Given the description of an element on the screen output the (x, y) to click on. 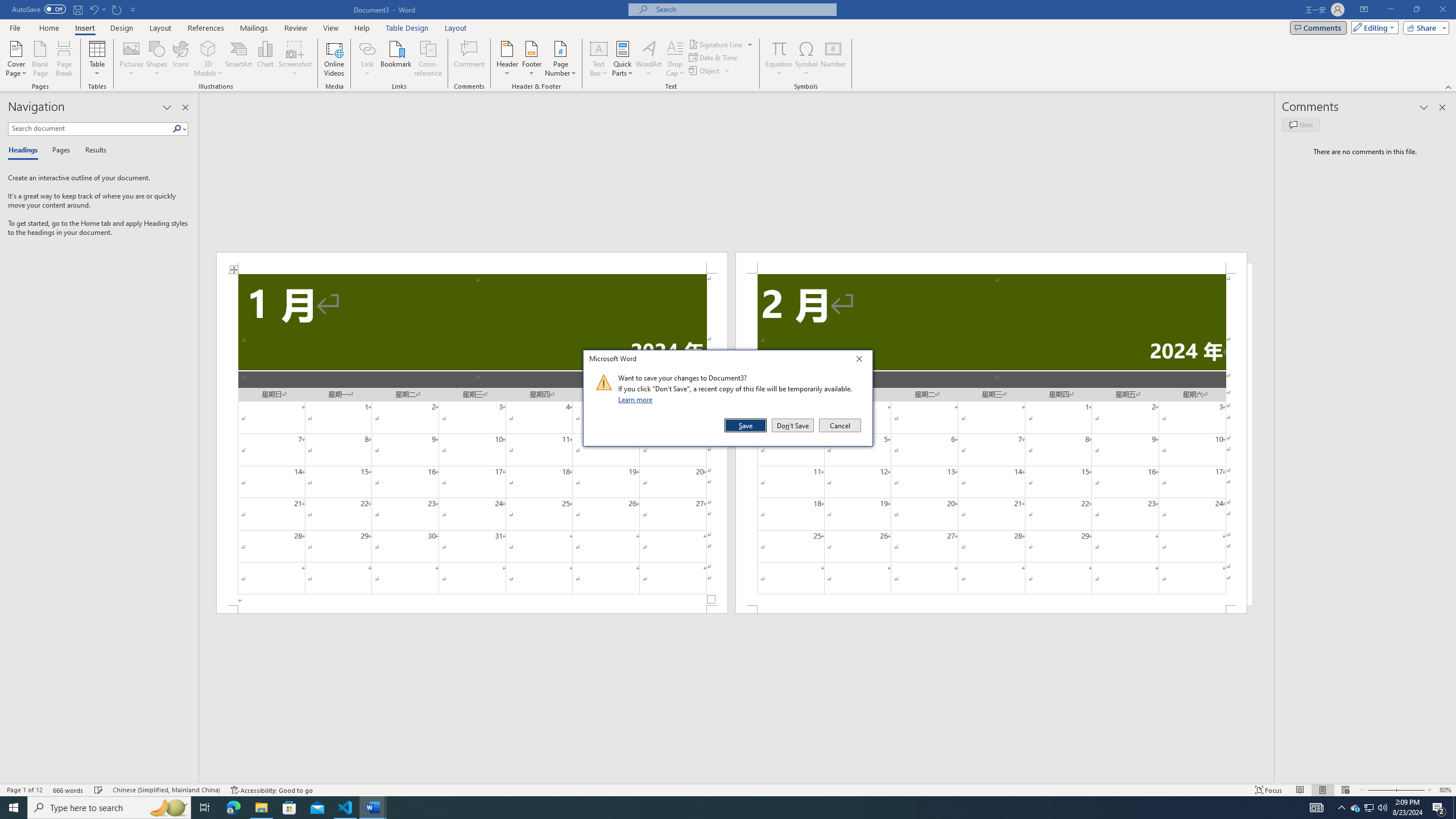
Shapes (156, 58)
Repeat Doc Close (117, 9)
Show desktop (1454, 807)
Language Chinese (Simplified, Mainland China) (165, 790)
Undo Increase Indent (96, 9)
Quick Parts (622, 58)
